Given the description of an element on the screen output the (x, y) to click on. 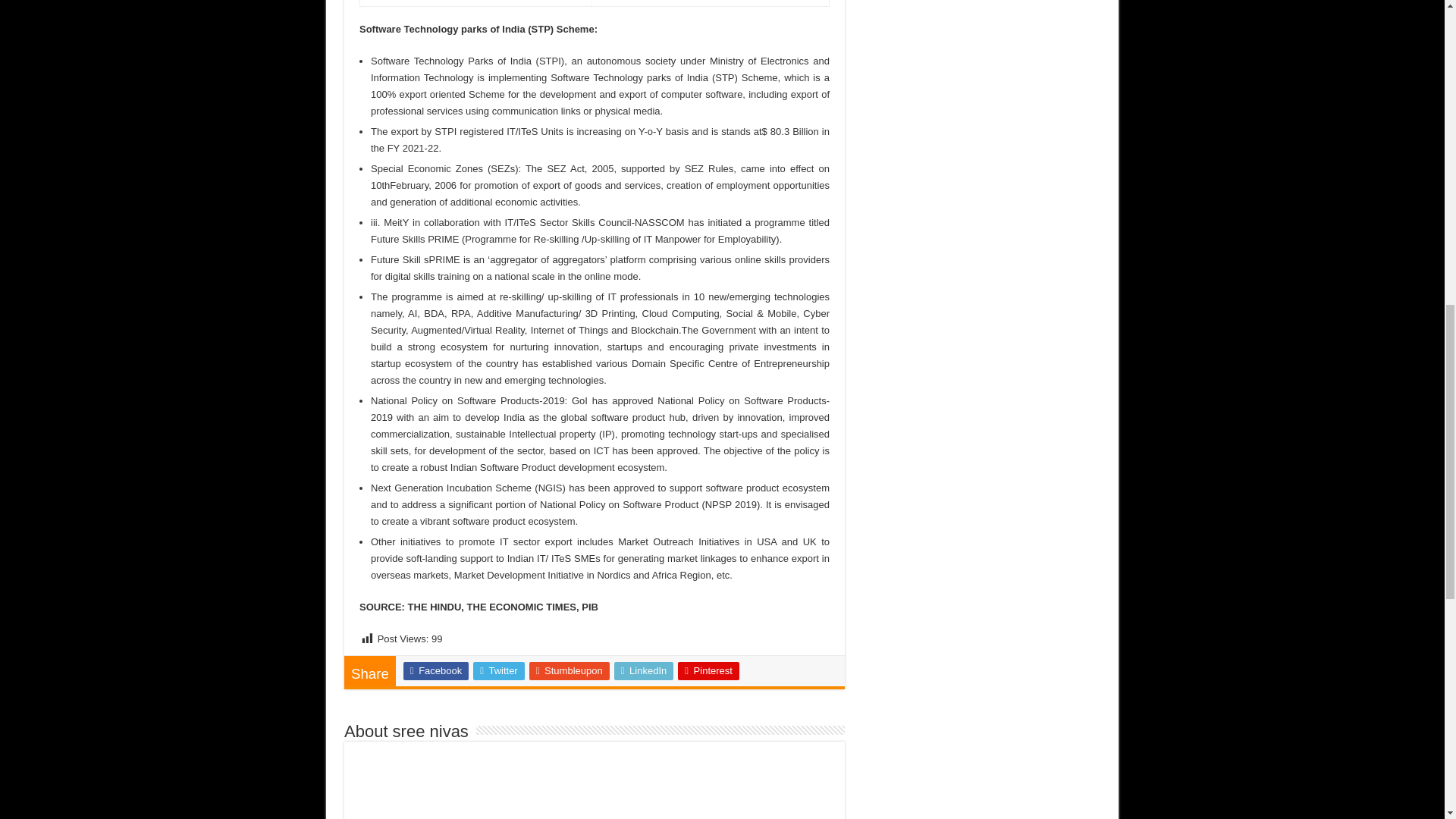
LinkedIn (644, 670)
Facebook (435, 670)
Stumbleupon (569, 670)
Pinterest (708, 670)
Twitter (498, 670)
